Given the description of an element on the screen output the (x, y) to click on. 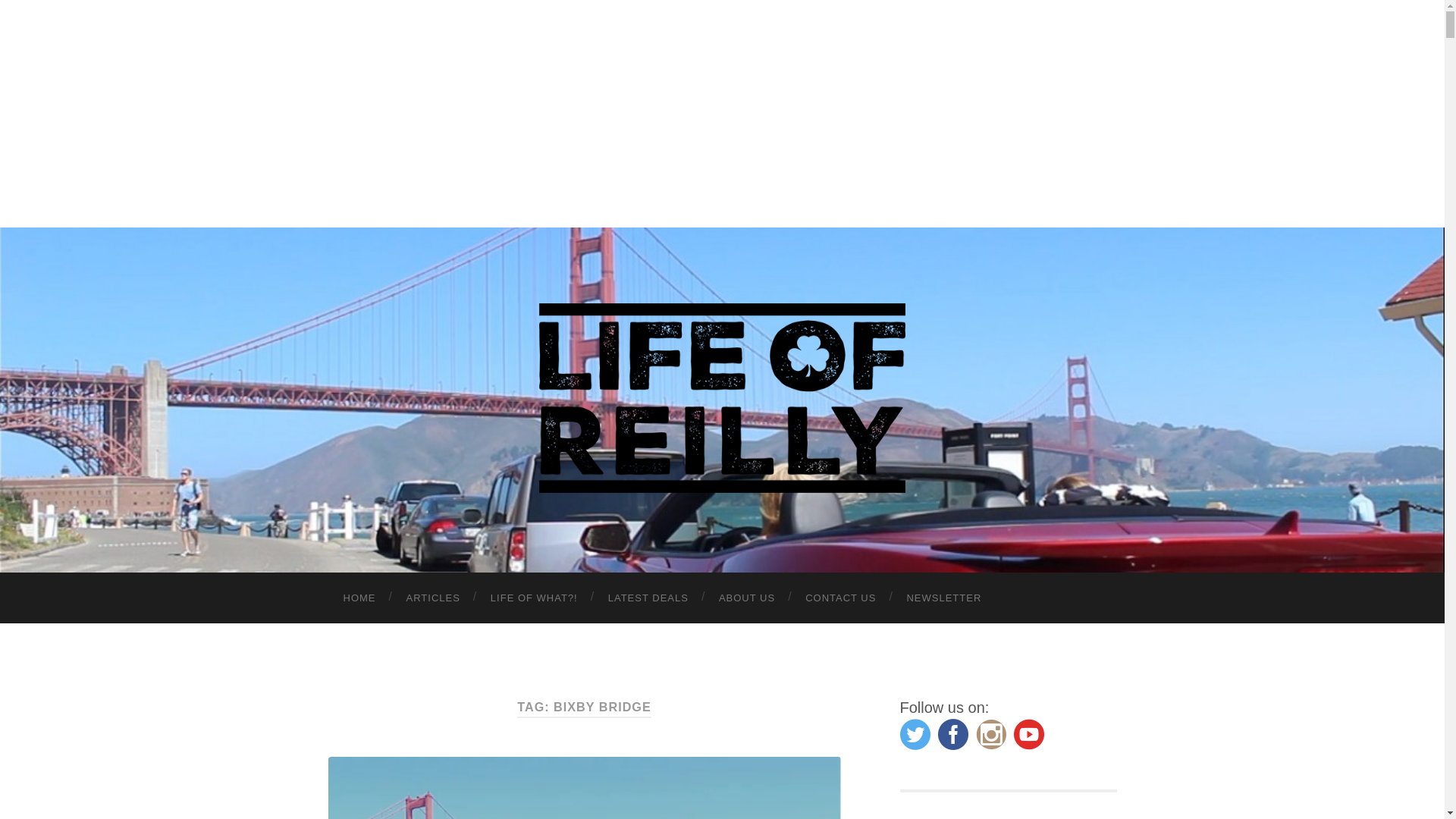
NEWSLETTER (943, 597)
CONTACT US (840, 597)
ABOUT US (746, 597)
HOME (358, 597)
LATEST DEALS (647, 597)
ARTICLES (433, 597)
LIFE OF WHAT?! (534, 597)
